Given the description of an element on the screen output the (x, y) to click on. 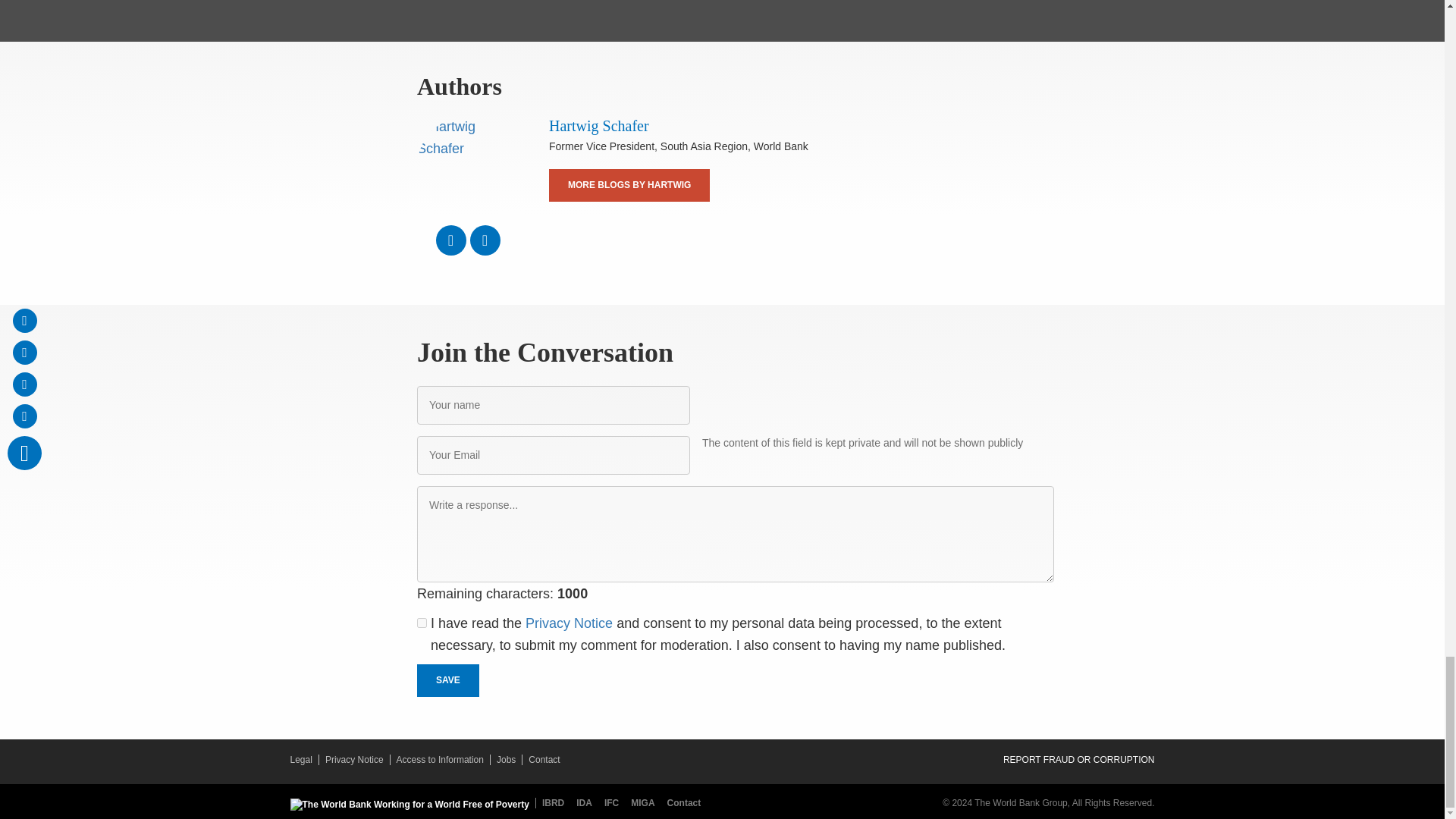
The World Bank Working for a World Free of Poverty (408, 804)
IDA (587, 802)
Your name (553, 405)
Contact (683, 802)
MIGA (645, 802)
1 (421, 623)
IBRD (552, 802)
Hartwig Schafer (467, 166)
IFC (614, 802)
